Given the description of an element on the screen output the (x, y) to click on. 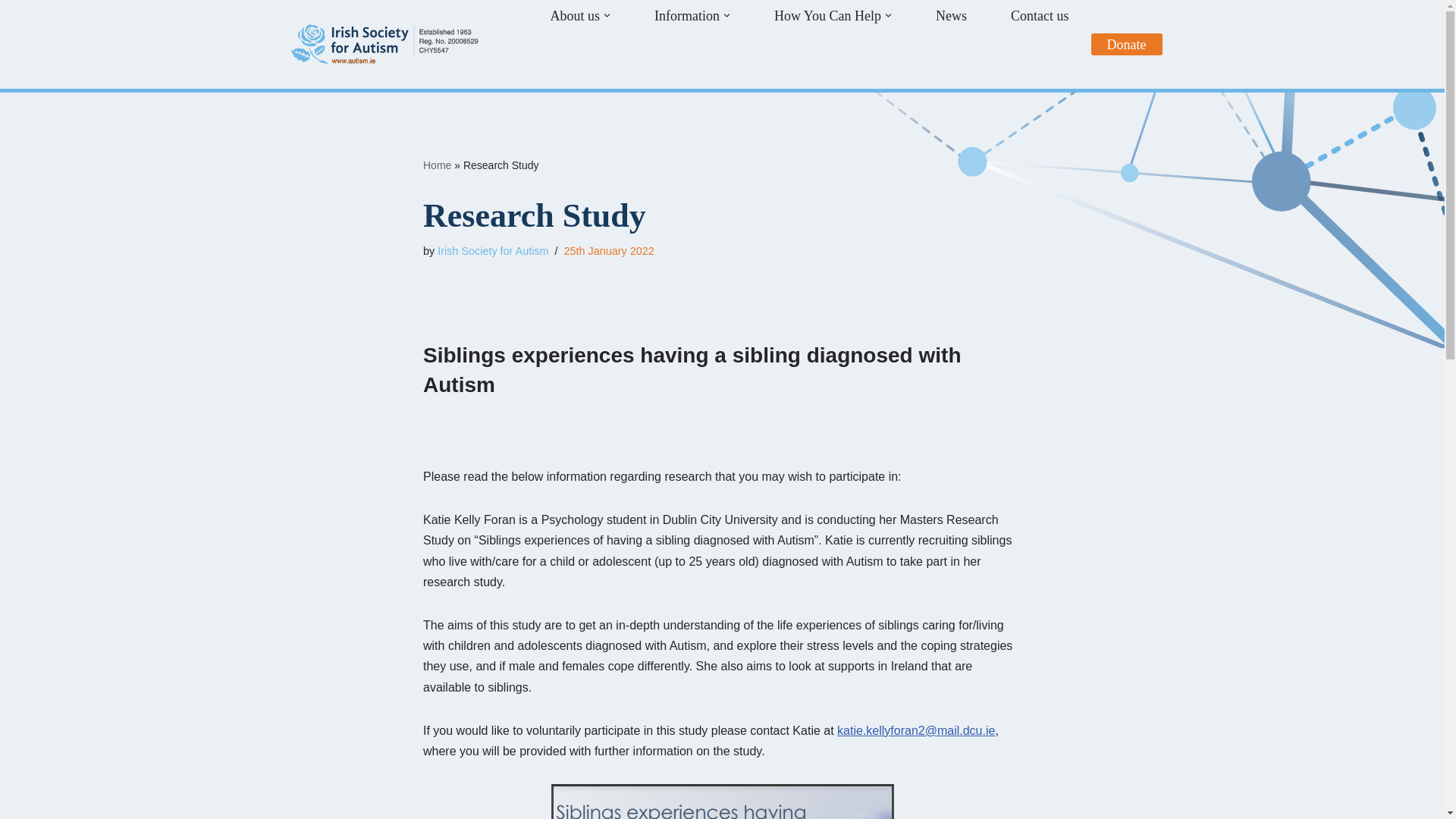
News (951, 15)
Skip to content (11, 31)
Information (686, 15)
About us (574, 15)
How You Can Help (827, 15)
Donate (1126, 44)
Contact us (1039, 15)
Posts by Irish Society for Autism (493, 250)
